Given the description of an element on the screen output the (x, y) to click on. 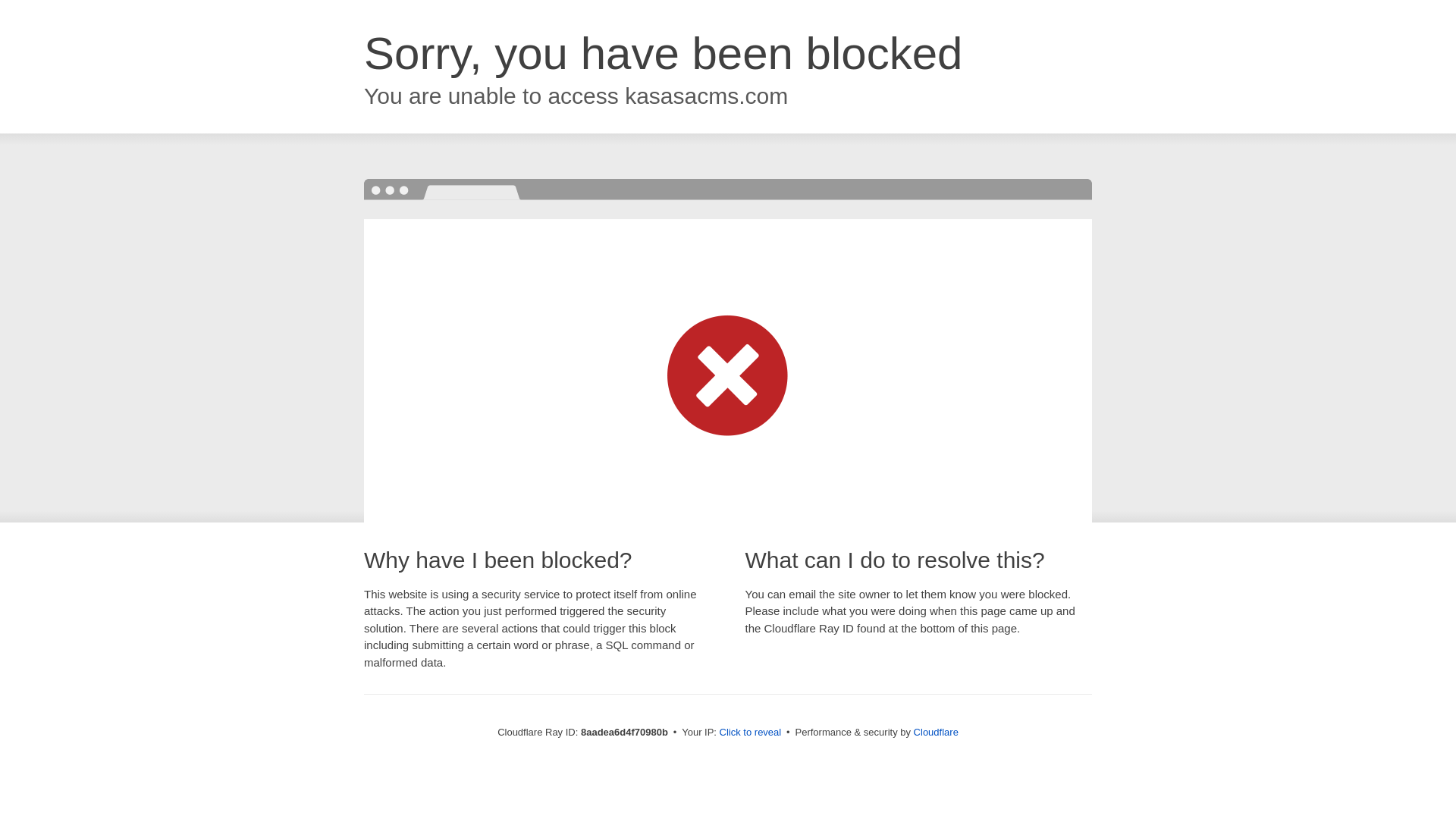
Cloudflare (936, 731)
Click to reveal (750, 732)
